Given the description of an element on the screen output the (x, y) to click on. 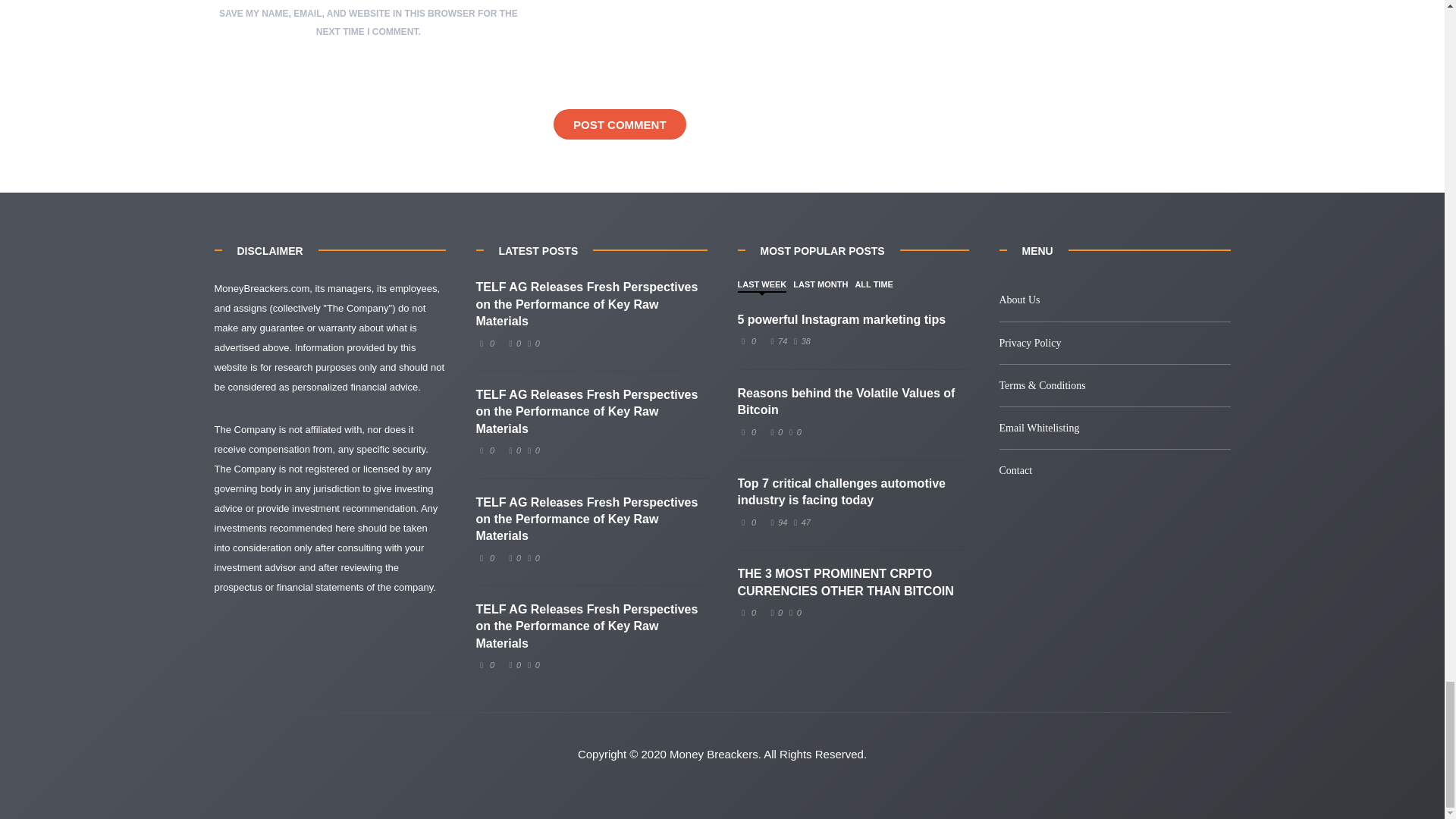
I like this (513, 557)
I dislike this (531, 343)
I like this (777, 340)
Post Comment (619, 123)
I like this (513, 664)
I dislike this (799, 522)
I dislike this (799, 340)
I like this (775, 431)
I like this (513, 343)
I dislike this (531, 664)
I like this (513, 450)
I like this (777, 522)
I dislike this (531, 557)
I dislike this (793, 431)
I dislike this (531, 450)
